Given the description of an element on the screen output the (x, y) to click on. 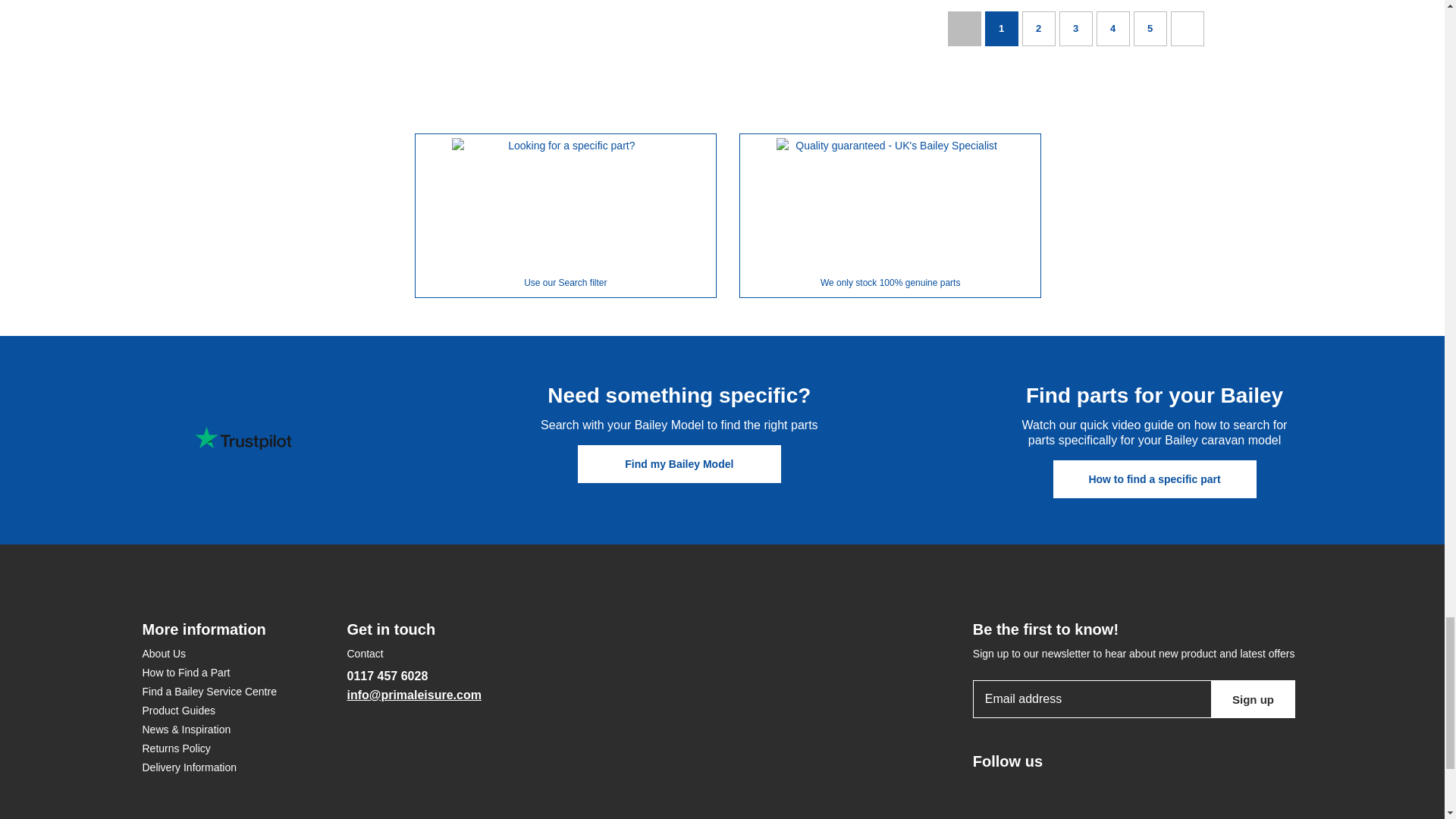
Customer reviews powered by Trustpilot (242, 438)
